Given the description of an element on the screen output the (x, y) to click on. 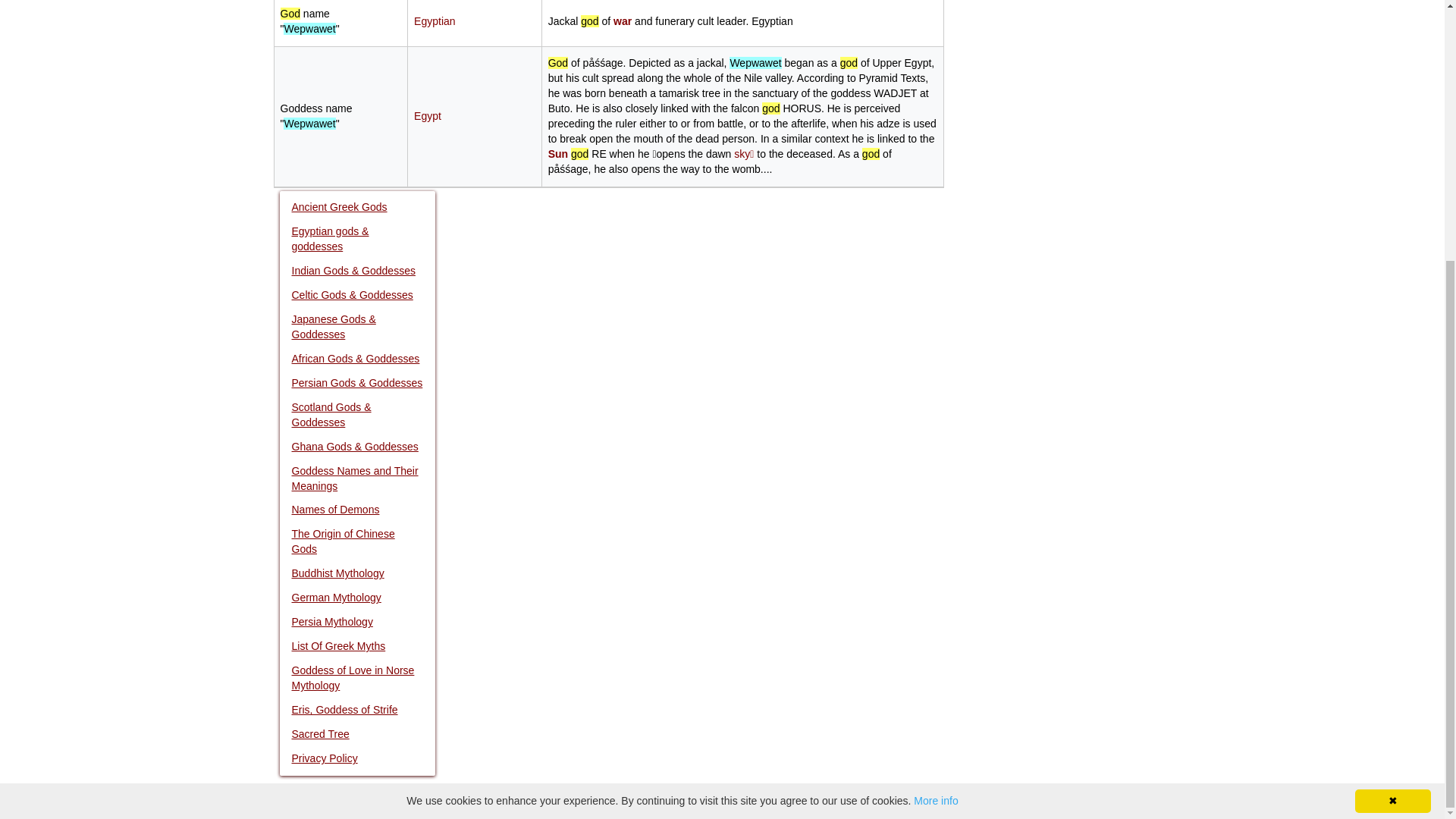
sky (743, 153)
